Given the description of an element on the screen output the (x, y) to click on. 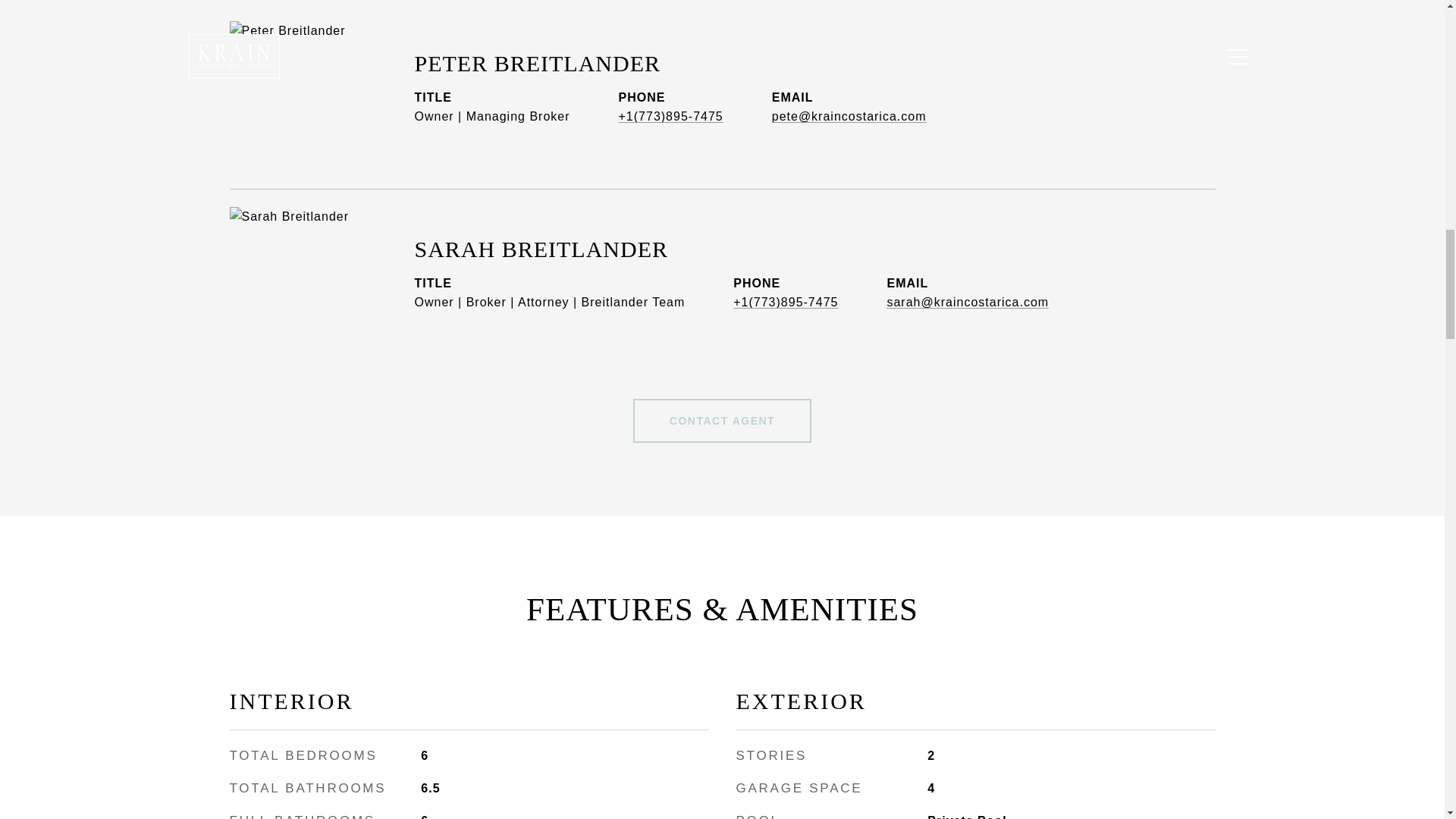
CONTACT AGENT (721, 420)
